Given the description of an element on the screen output the (x, y) to click on. 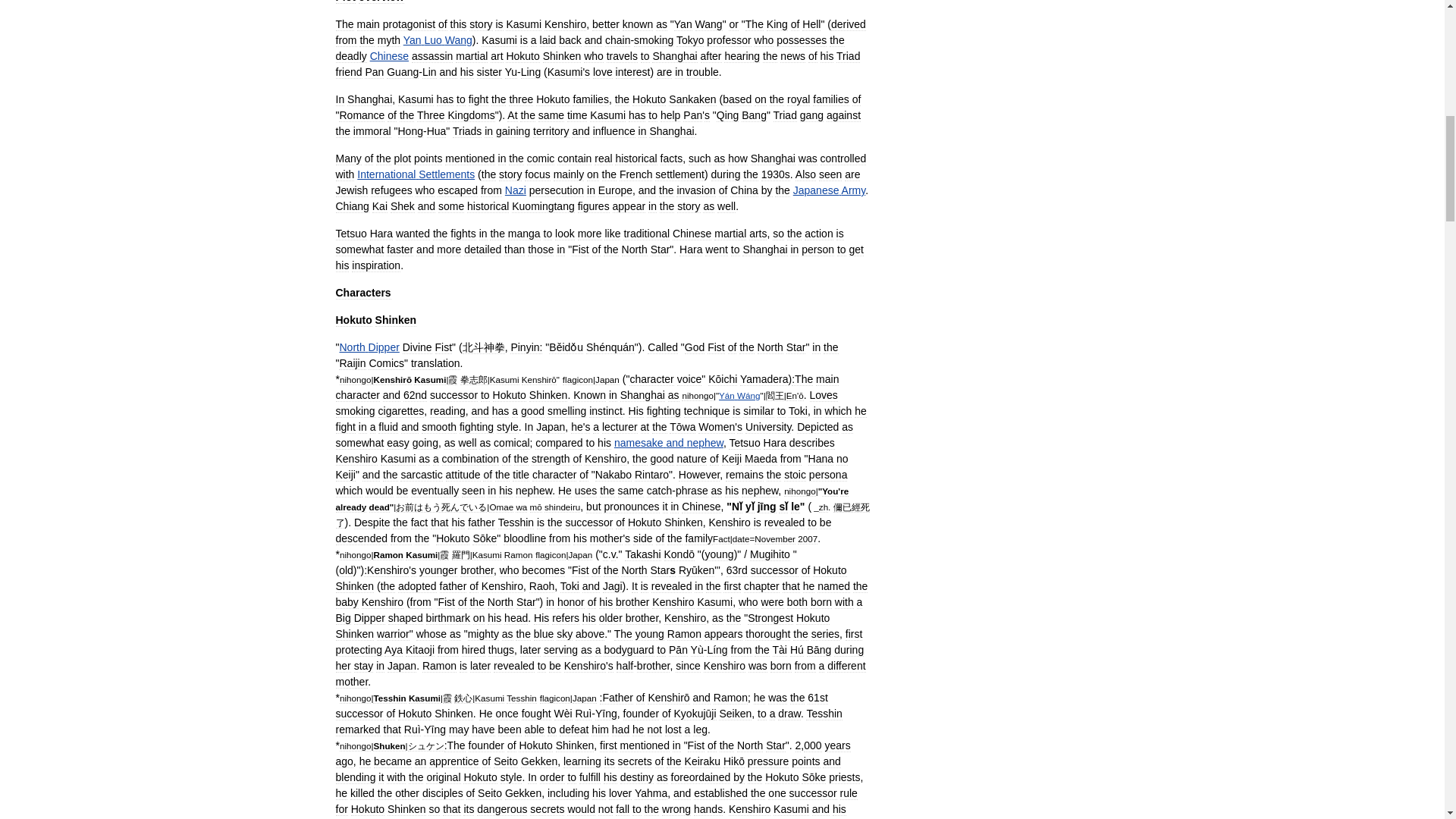
Japanese Army (828, 190)
Chinese (389, 55)
International Settlements (415, 174)
North Dipper (368, 346)
Nazi (515, 190)
namesake and nephew (668, 442)
Yan Luo Wang (437, 39)
